Given the description of an element on the screen output the (x, y) to click on. 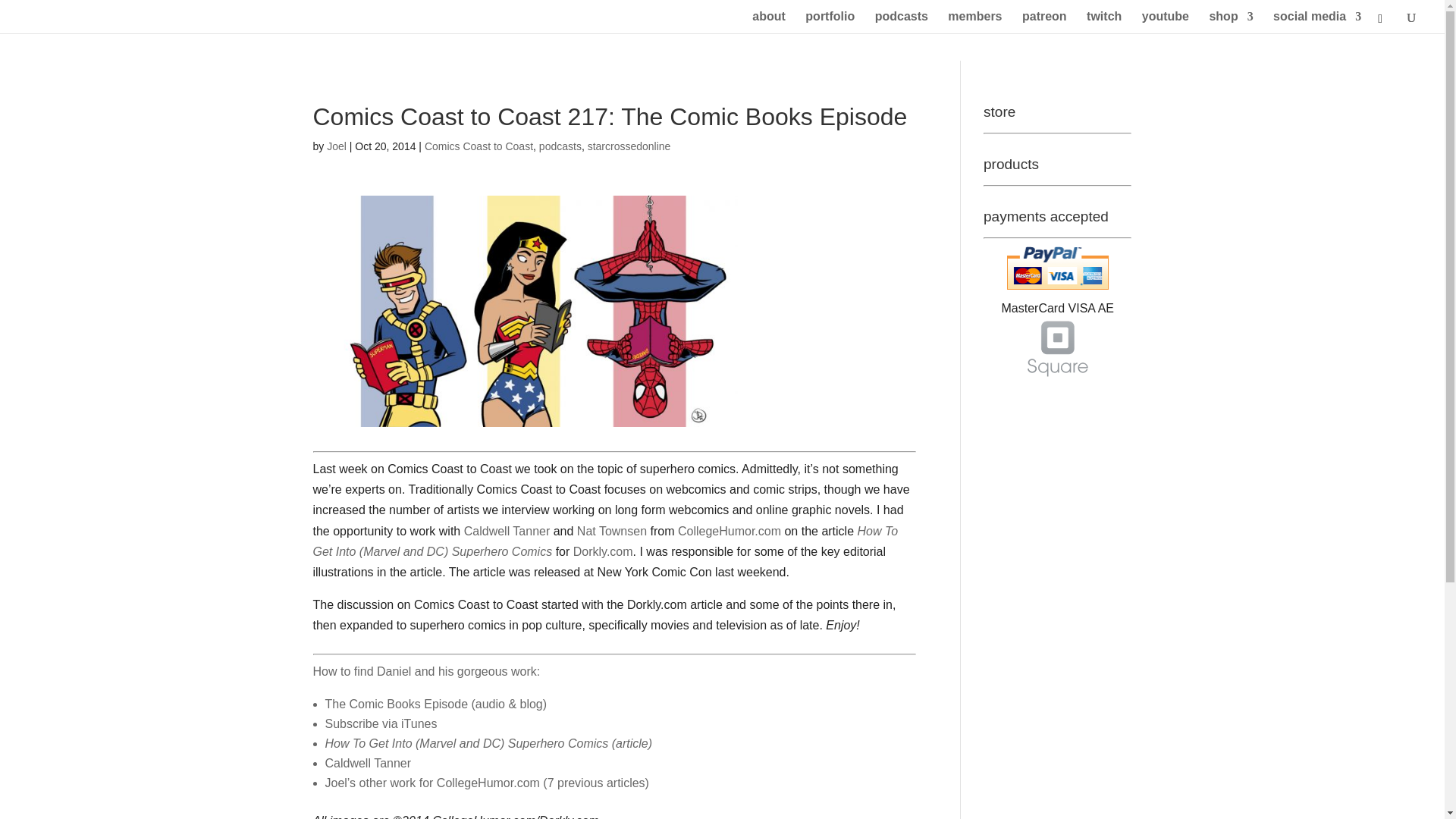
Joel (336, 146)
portfolio (829, 22)
starcrossedonline (629, 146)
Posts by Joel (336, 146)
Subscribe via iTunes (380, 723)
Caldwell Tanner (367, 762)
youtube (1165, 22)
shop (1230, 22)
about (769, 22)
Caldwell Tanner (507, 530)
members (974, 22)
patreon (1044, 22)
Nat Townsen (611, 530)
social media (1316, 22)
Comics Coast to Coast (478, 146)
